Given the description of an element on the screen output the (x, y) to click on. 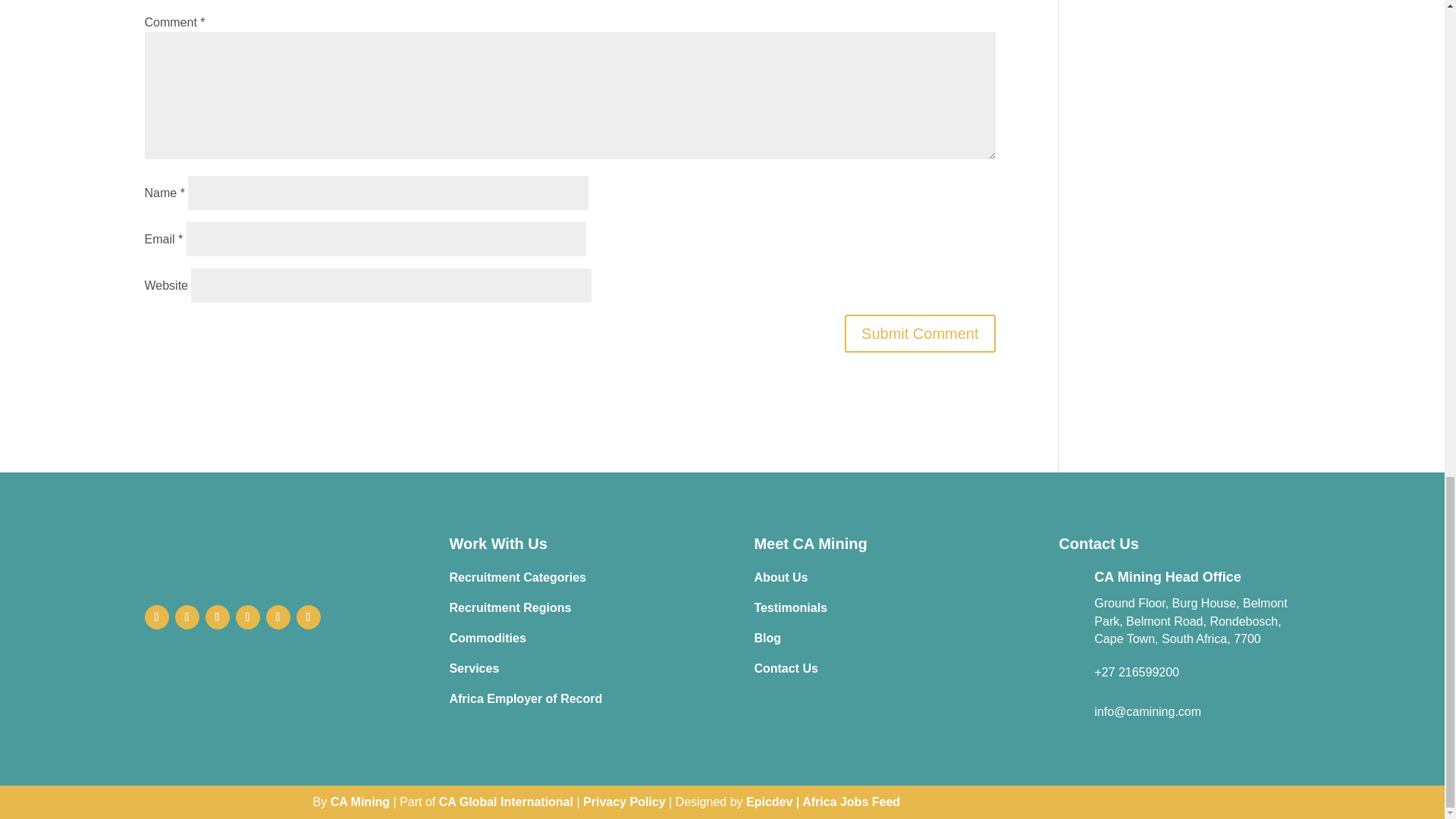
Follow on Facebook (156, 617)
Follow on X (186, 617)
Follow on Youtube (246, 617)
Follow on RSS (307, 617)
Follow on LinkedIn (276, 617)
CA-Mining-1-White (264, 553)
Submit Comment (919, 333)
Follow on Instagram (216, 617)
